Given the description of an element on the screen output the (x, y) to click on. 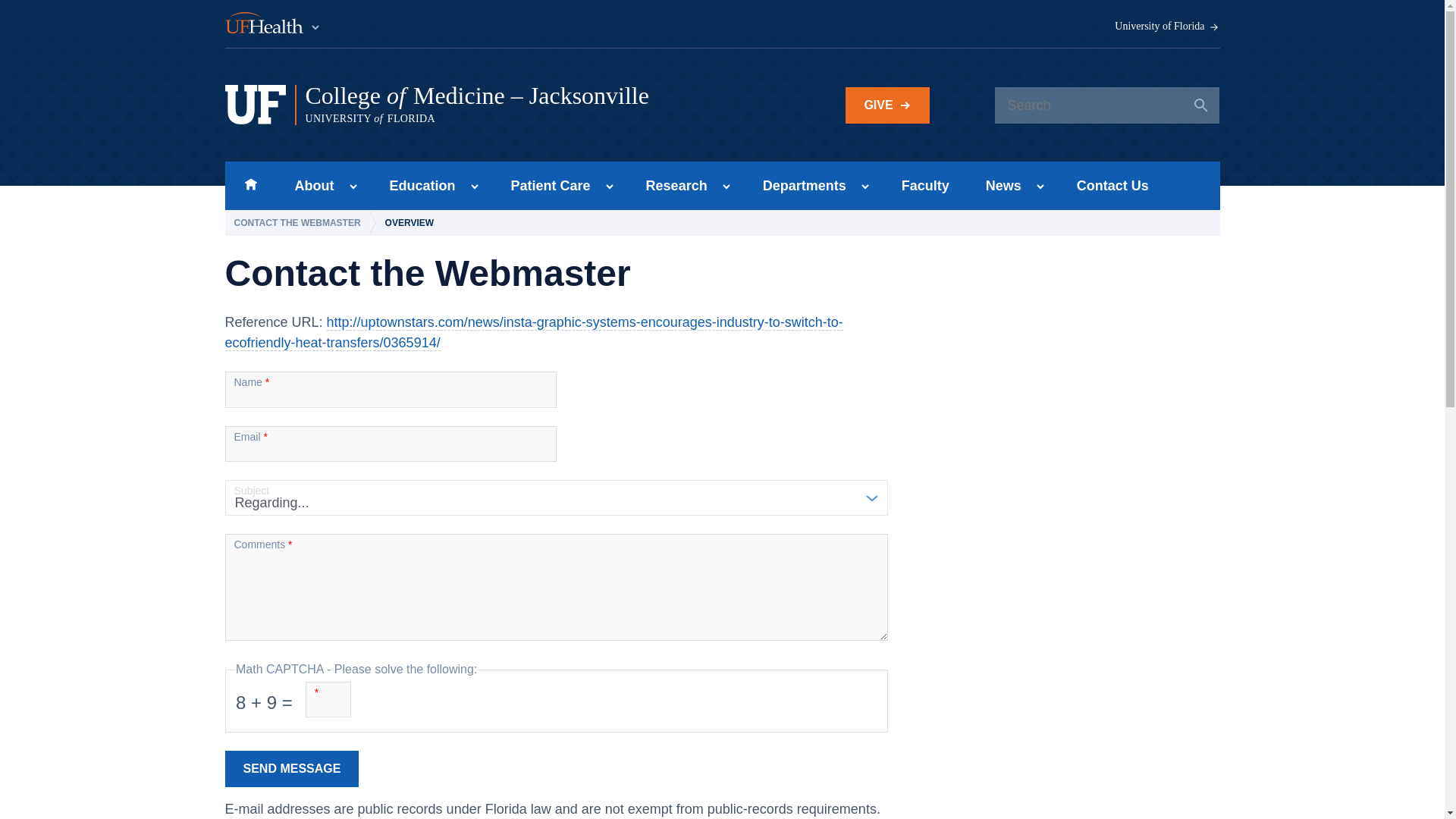
Show submenu for About (353, 187)
About (309, 185)
UF Health (272, 24)
GIVE (886, 104)
Education (417, 185)
Show submenu for Education (474, 187)
Home (250, 185)
University of Florida (1167, 26)
